Given the description of an element on the screen output the (x, y) to click on. 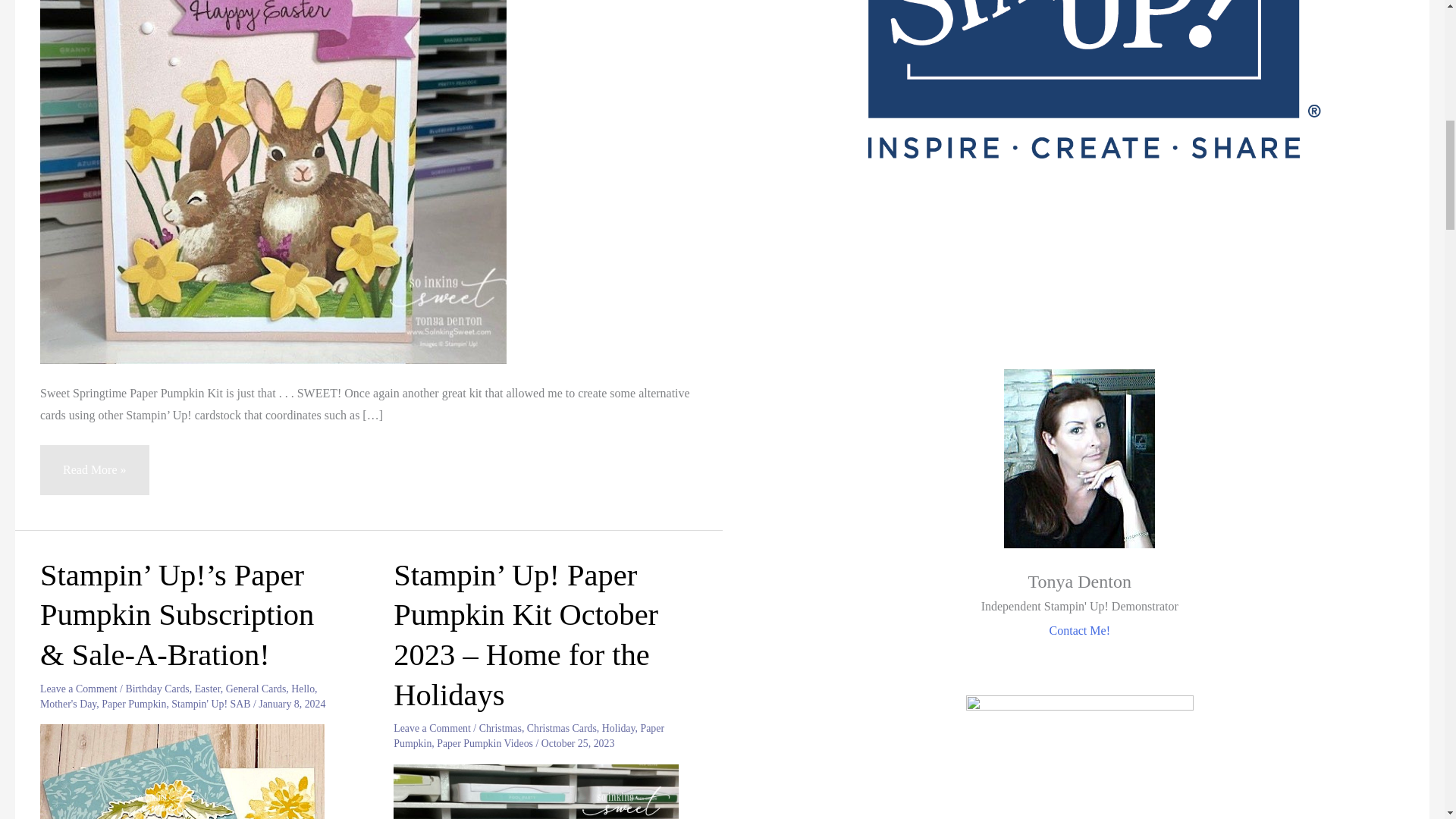
General Cards (255, 688)
Leave a Comment (78, 688)
Birthday Cards (157, 688)
Easter (208, 688)
Stampin' Up! SAB (210, 704)
Mother's Day (68, 704)
Paper Pumpkin (133, 704)
Hello (302, 688)
